Given the description of an element on the screen output the (x, y) to click on. 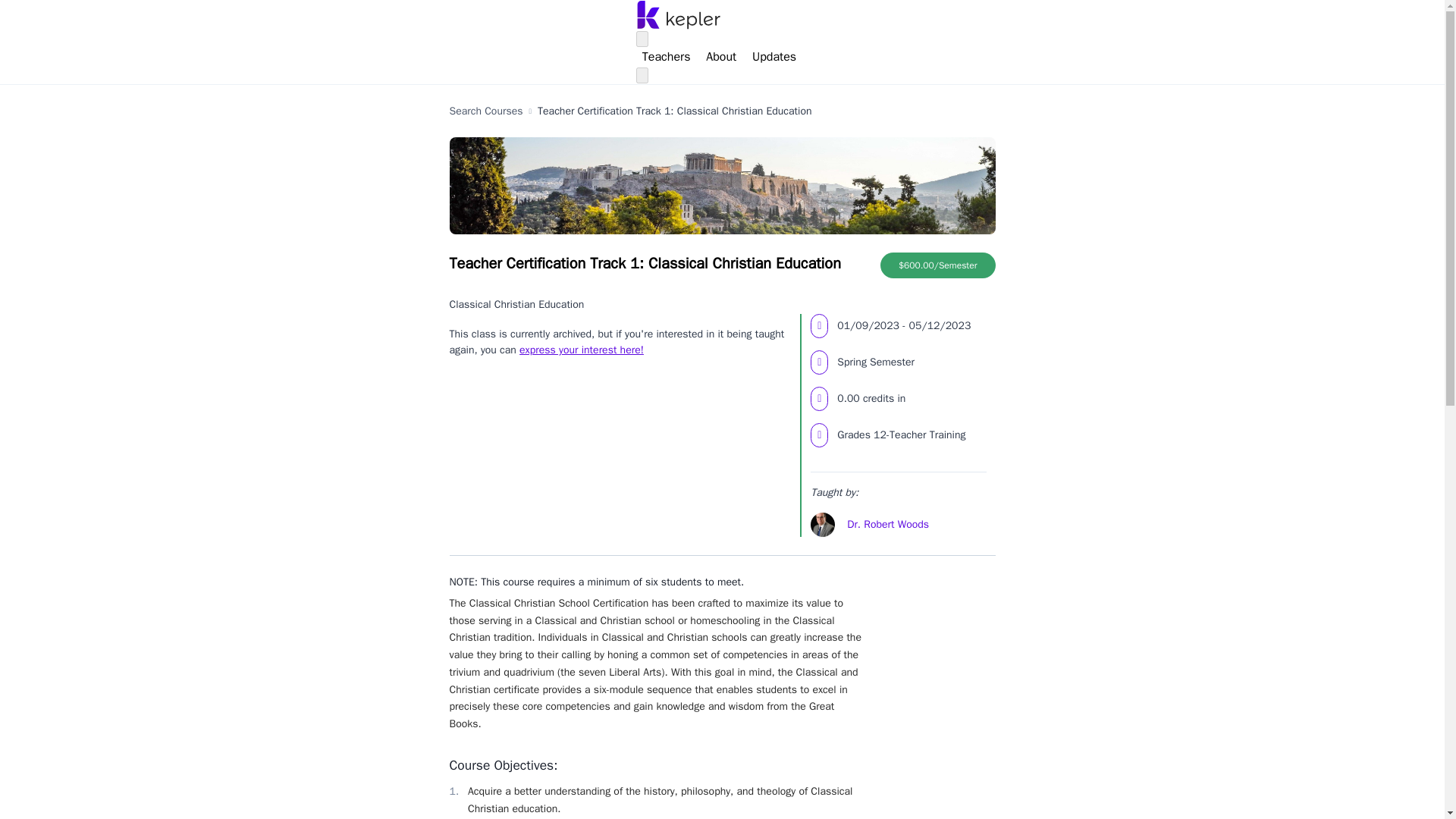
Updates (774, 56)
express your interest here! (581, 349)
Search Courses (485, 110)
Teachers (666, 56)
Dr. Robert Woods (887, 524)
Teacher Certification Track 1: Classical Christian Education (674, 110)
About (721, 56)
